Given the description of an element on the screen output the (x, y) to click on. 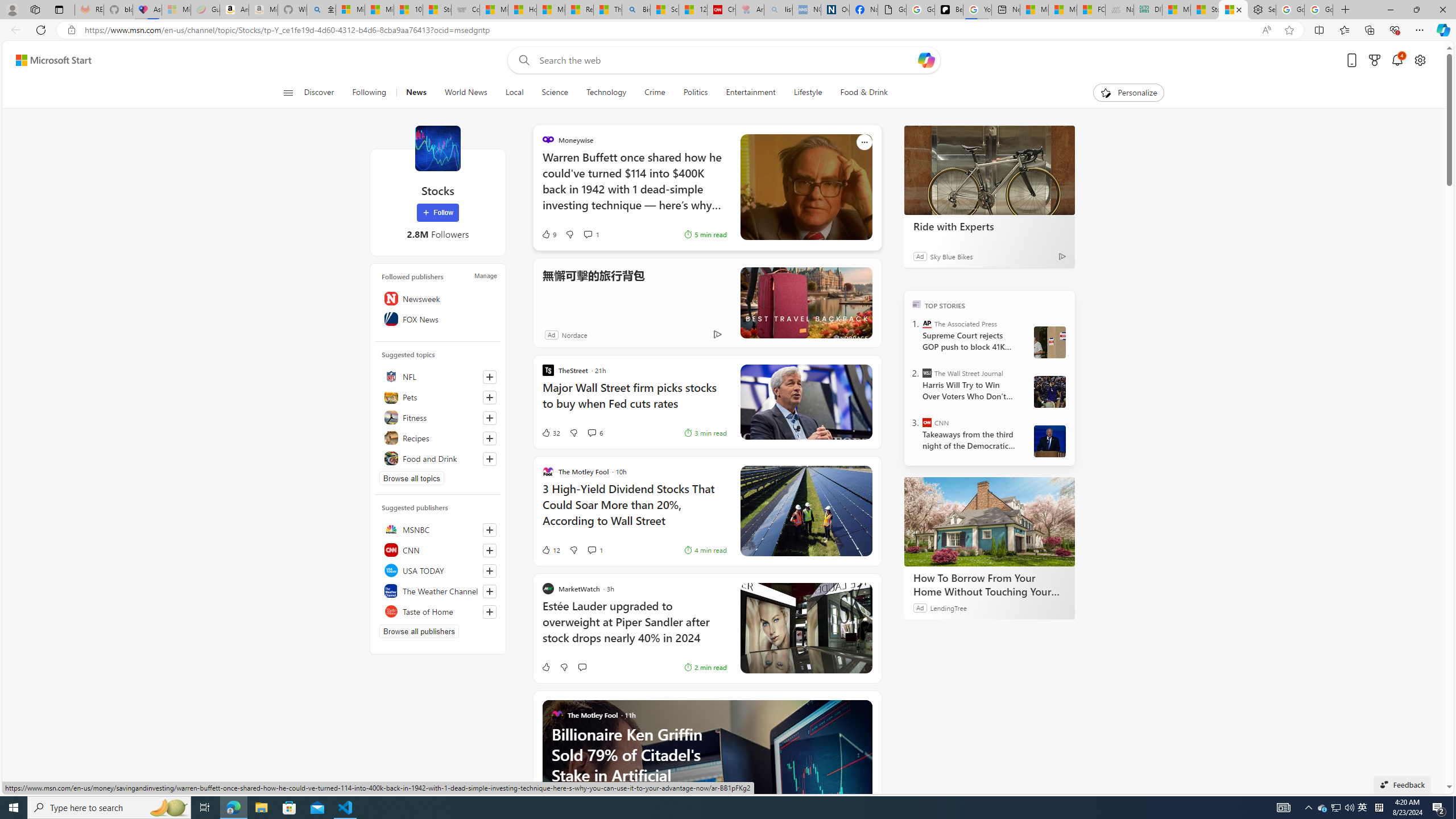
MSNBC (437, 529)
Recipes (437, 437)
CNN (927, 422)
Ad Choice (717, 334)
Arthritis: Ask Health Professionals - Sleeping (749, 9)
Food & Drink (859, 92)
Food & Drink (864, 92)
View comments 6 Comment (594, 432)
Politics (694, 92)
